Given the description of an element on the screen output the (x, y) to click on. 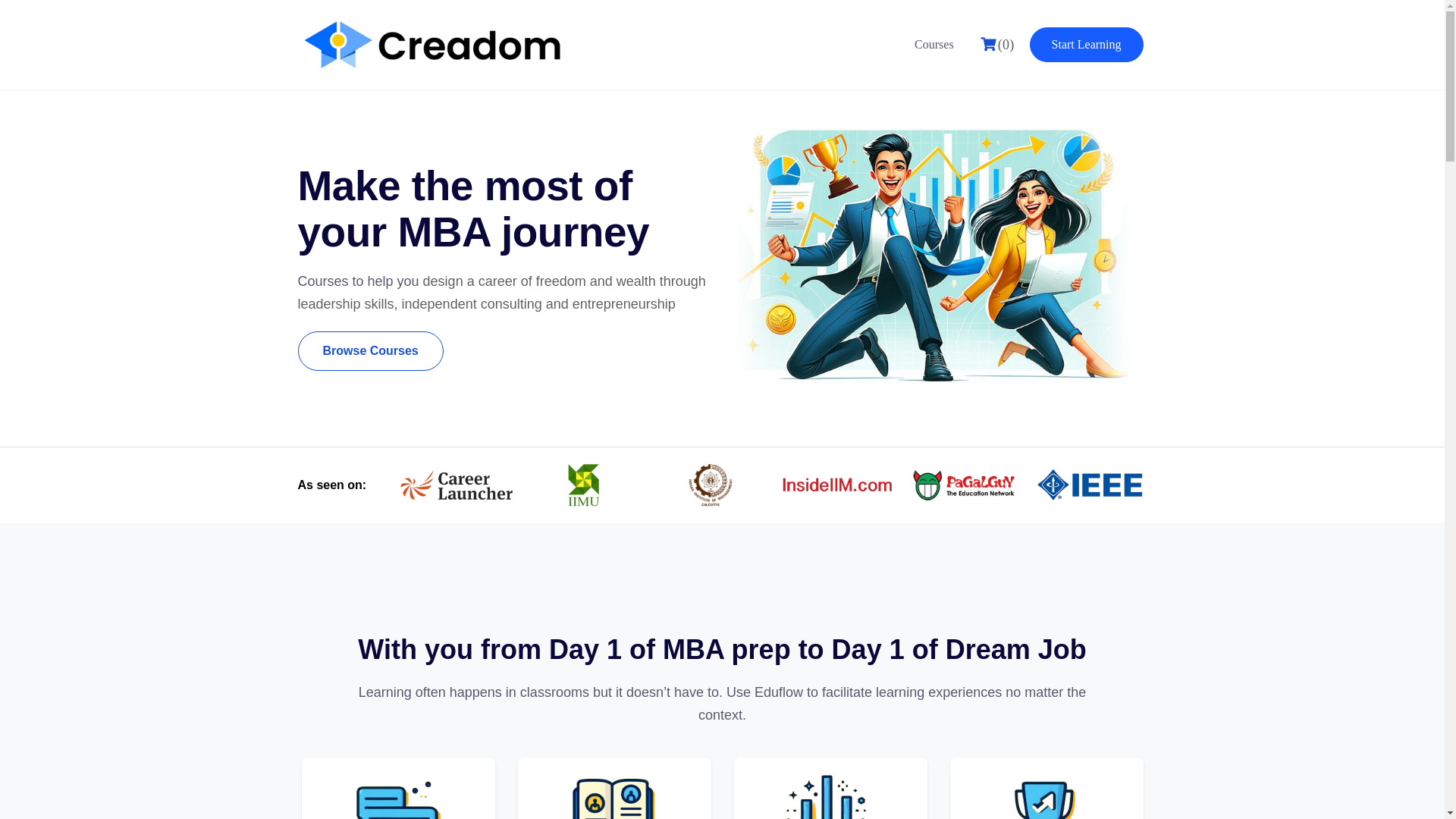
Start Learning (1085, 44)
Courses (934, 44)
Browse Courses (369, 351)
View your shopping cart (996, 44)
